Given the description of an element on the screen output the (x, y) to click on. 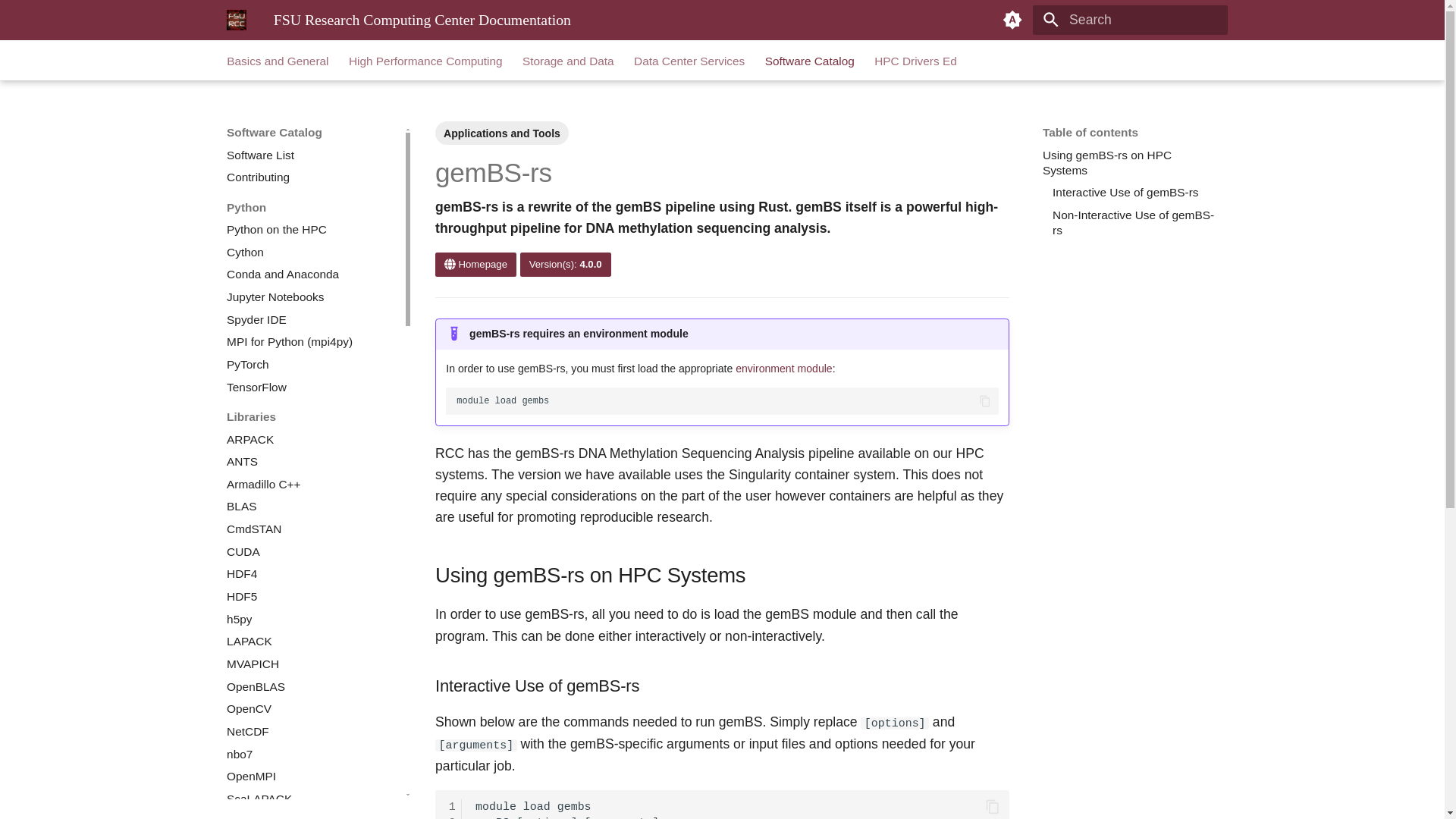
HPC Drivers Ed (915, 60)
Environment modules (783, 368)
Basics and General (278, 60)
Data Center Services (688, 60)
Official gemBS-rs homepage (475, 264)
Storage and Data (568, 60)
Copy to clipboard (984, 400)
Switch to light mode (1012, 19)
Software Catalog (809, 60)
FSU Research Computing Center Documentation (236, 19)
High Performance Computing (425, 60)
Copy to clipboard (992, 806)
